Given the description of an element on the screen output the (x, y) to click on. 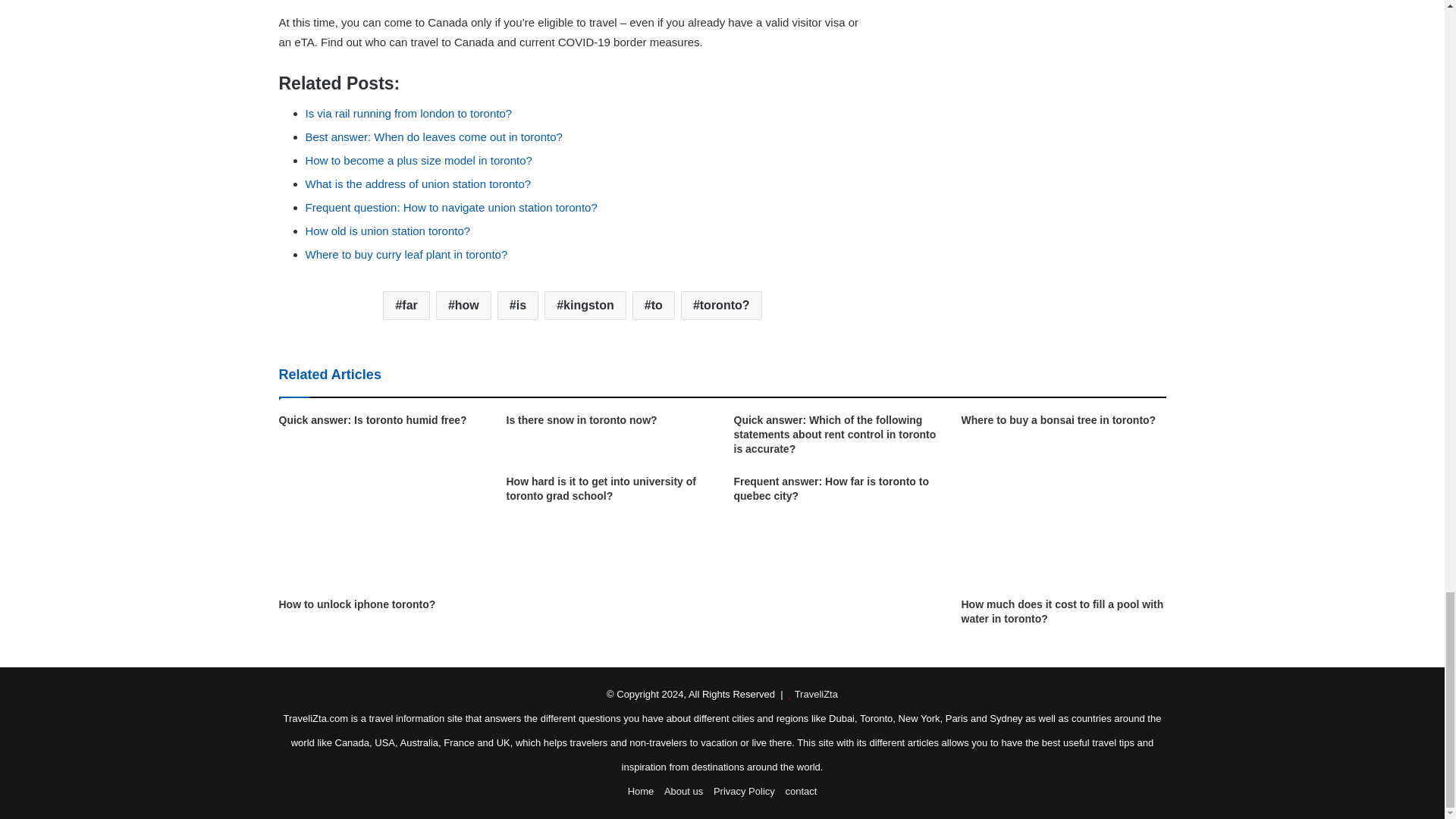
how (463, 305)
How much does it cost to fill a pool with water in toronto? (1061, 611)
Best answer: When do leaves come out in toronto? (433, 136)
toronto? (721, 305)
Where to buy a bonsai tree in toronto? (1058, 419)
How to unlock iphone toronto? (357, 604)
What is the address of union station toronto? (417, 183)
Is via rail running from london to toronto? (408, 113)
to (653, 305)
